Given the description of an element on the screen output the (x, y) to click on. 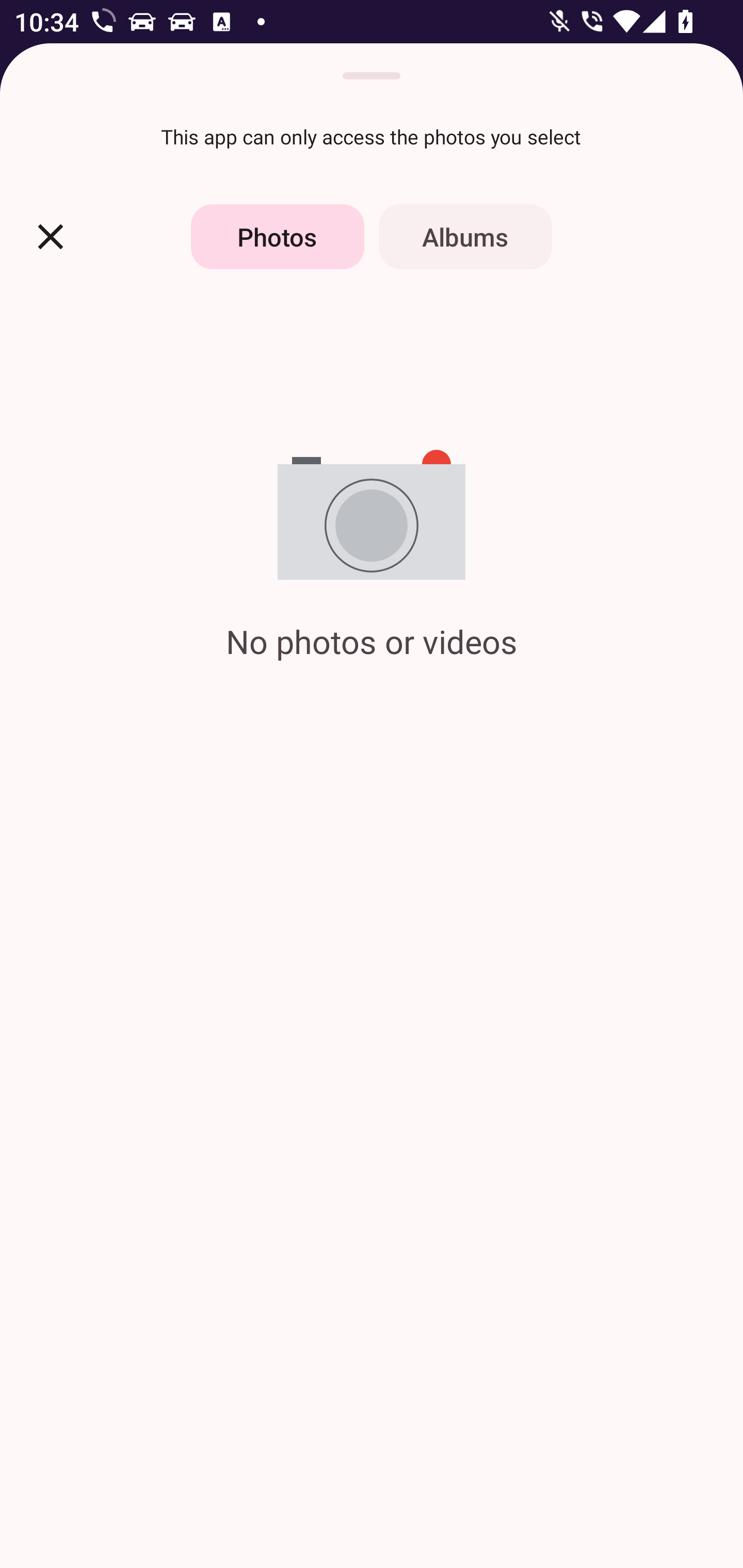
Cancel (50, 236)
Albums (465, 236)
